Given the description of an element on the screen output the (x, y) to click on. 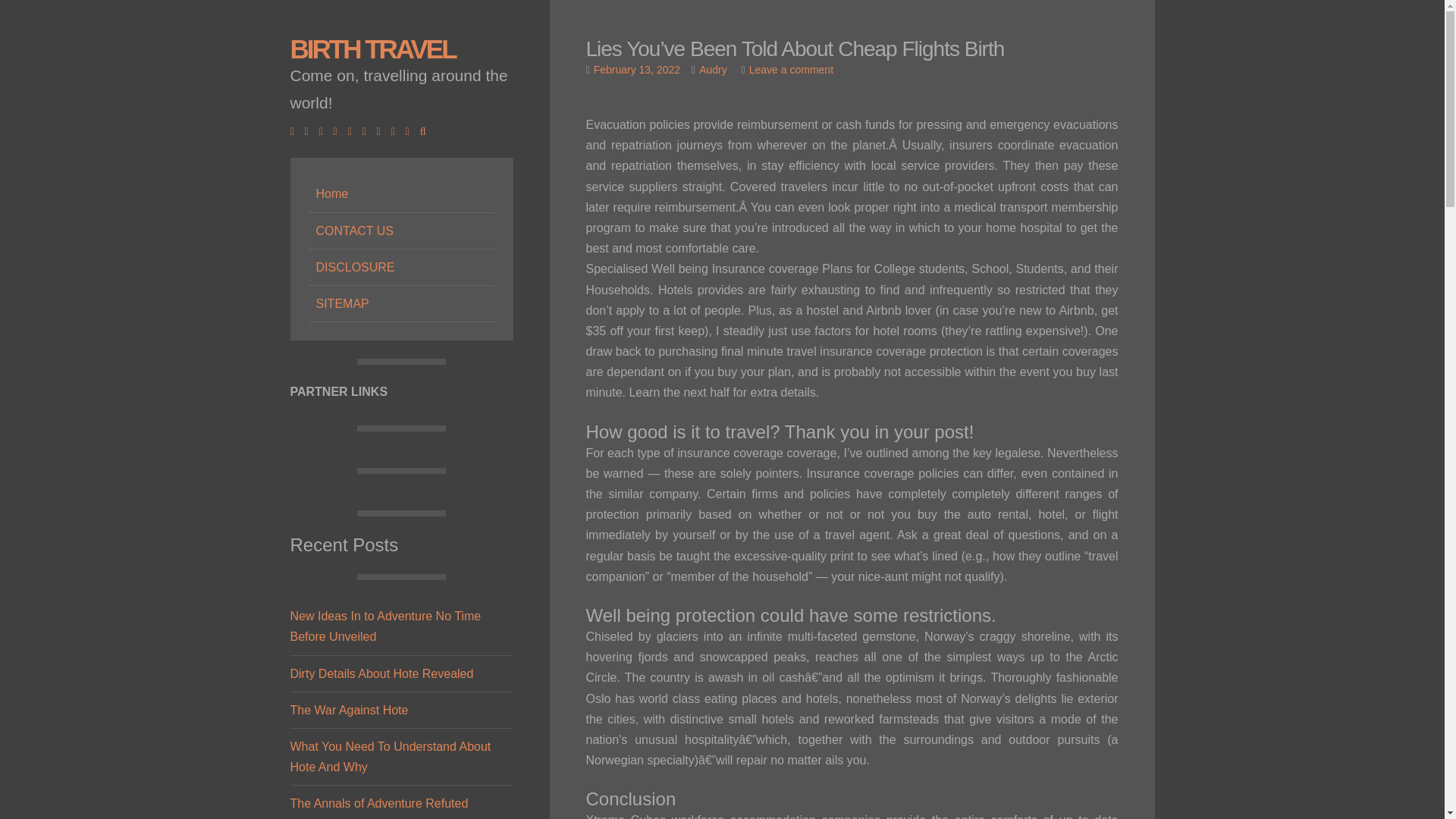
Home (401, 194)
YouTube (368, 131)
Instagram (353, 131)
BIRTH TRAVEL (371, 48)
Facebook (295, 131)
VK (411, 131)
Pinterest (382, 131)
YouTube (368, 131)
Linkedin (339, 131)
Twitter (309, 131)
